Given the description of an element on the screen output the (x, y) to click on. 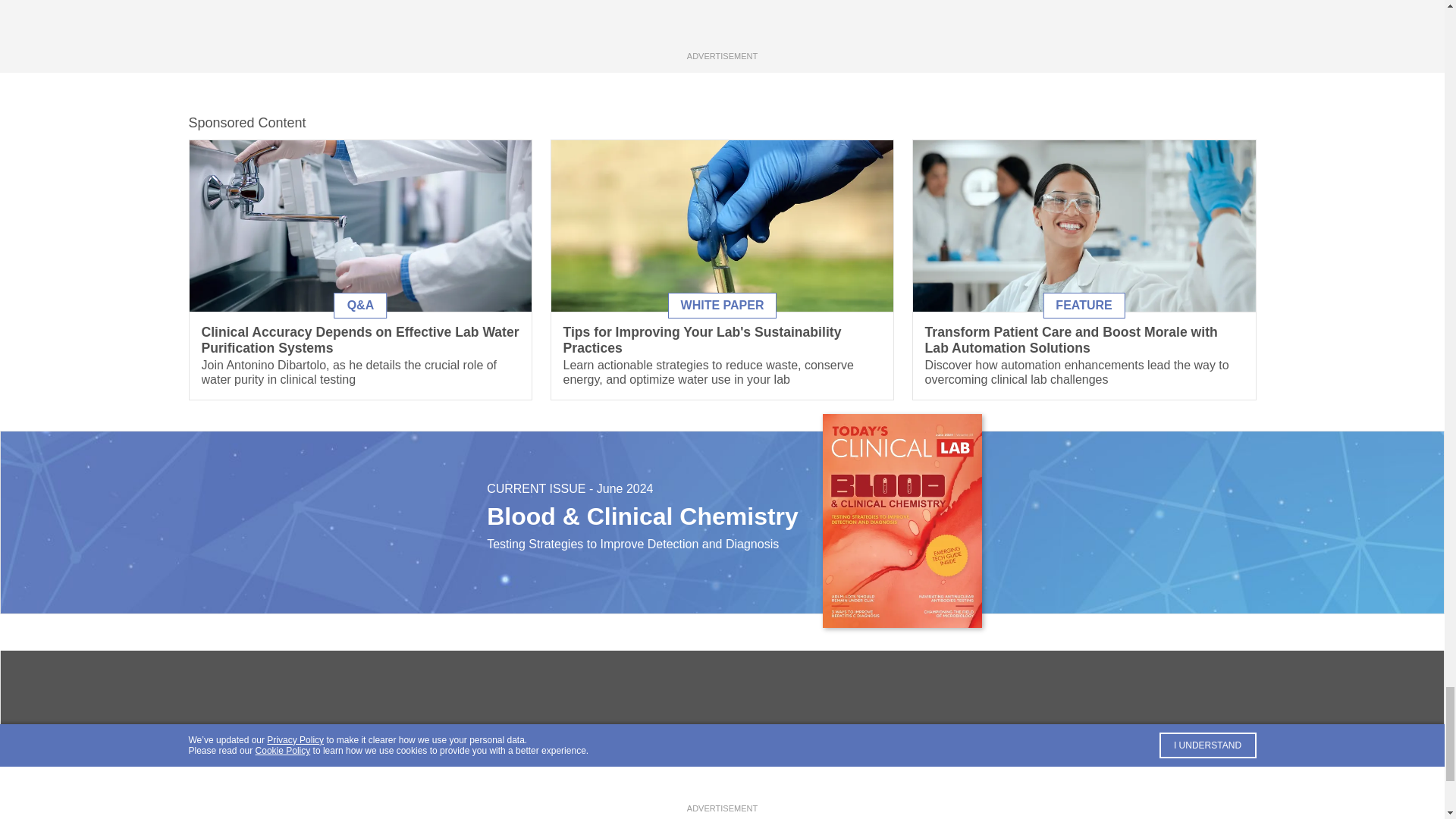
3rd party ad content (721, 24)
Twitter (722, 788)
Facebook (697, 788)
LinkedIn (745, 788)
